Given the description of an element on the screen output the (x, y) to click on. 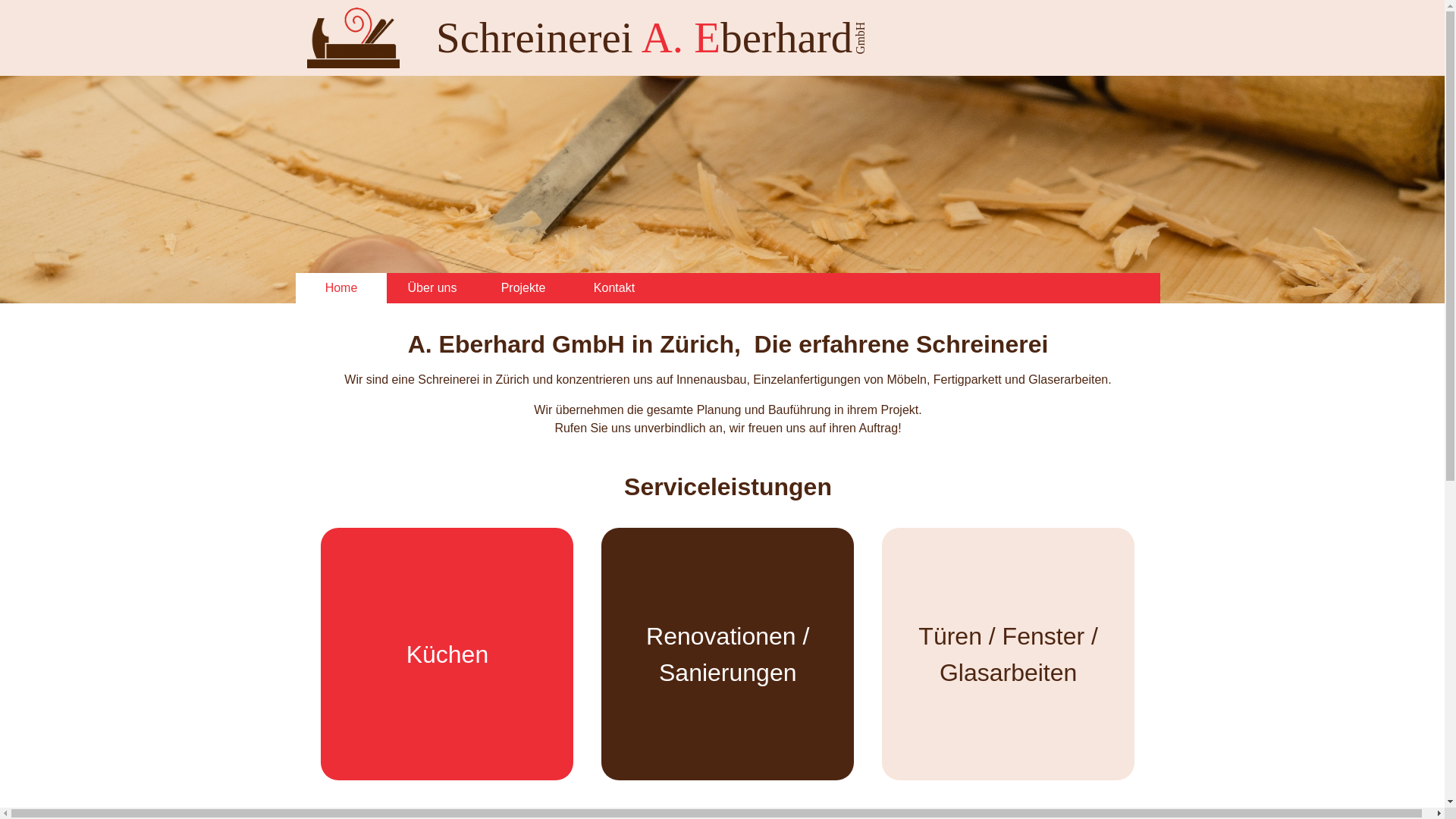
Projekte Element type: text (522, 288)
Home Element type: text (340, 288)
Schreinerei A. Eberhard GmbH Element type: text (662, 37)
Kontakt Element type: text (613, 288)
